Given the description of an element on the screen output the (x, y) to click on. 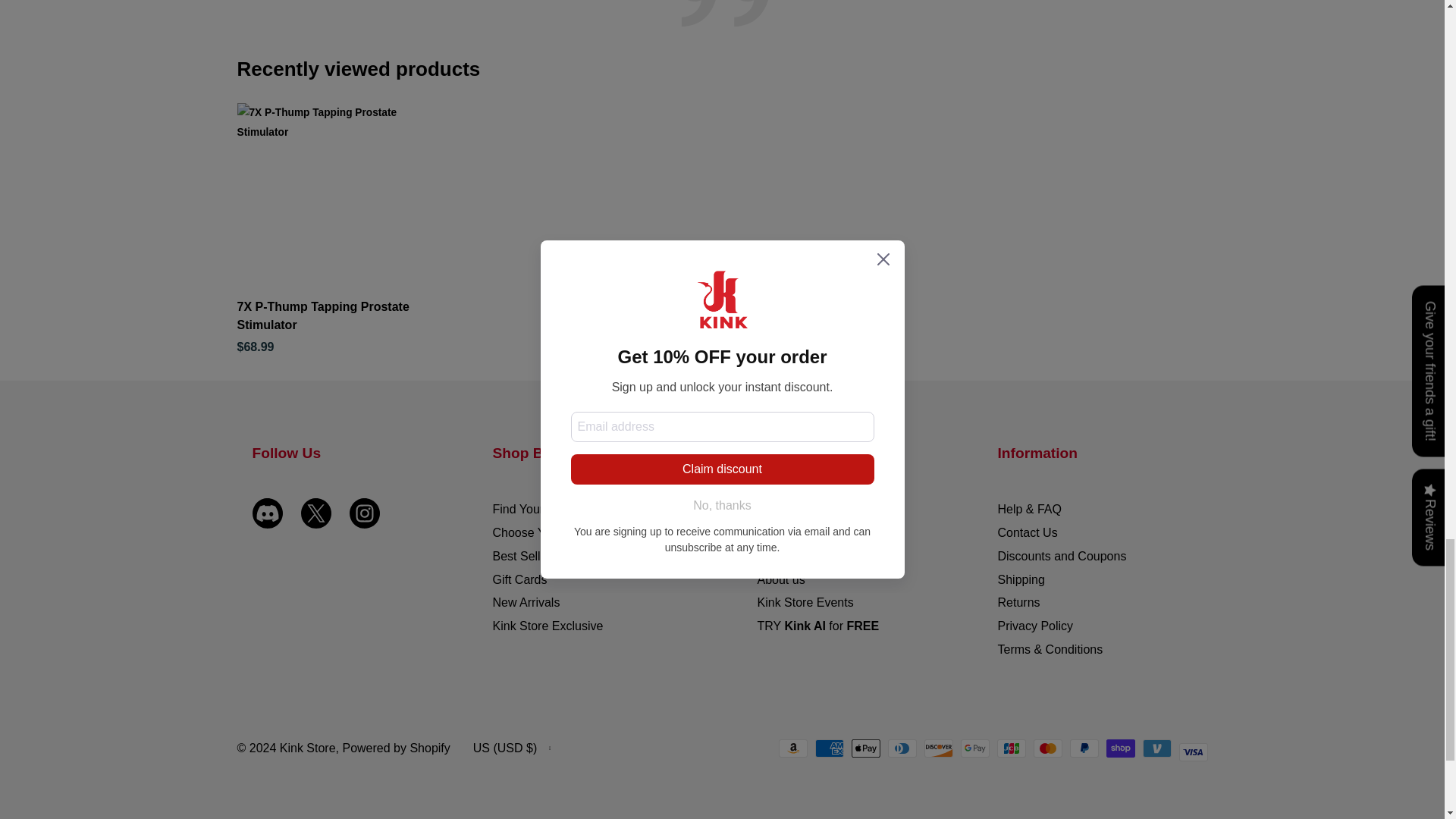
American Express (828, 748)
Amazon (791, 748)
Shop Pay (1119, 748)
Apple Pay (864, 748)
Google Pay (973, 748)
JCB (1010, 748)
Carousel testimonials reviews widget (721, 28)
Venmo (1155, 748)
Mastercard (1046, 748)
Discover (937, 748)
PayPal (1082, 748)
Visa (1192, 751)
Diners Club (900, 748)
